Given the description of an element on the screen output the (x, y) to click on. 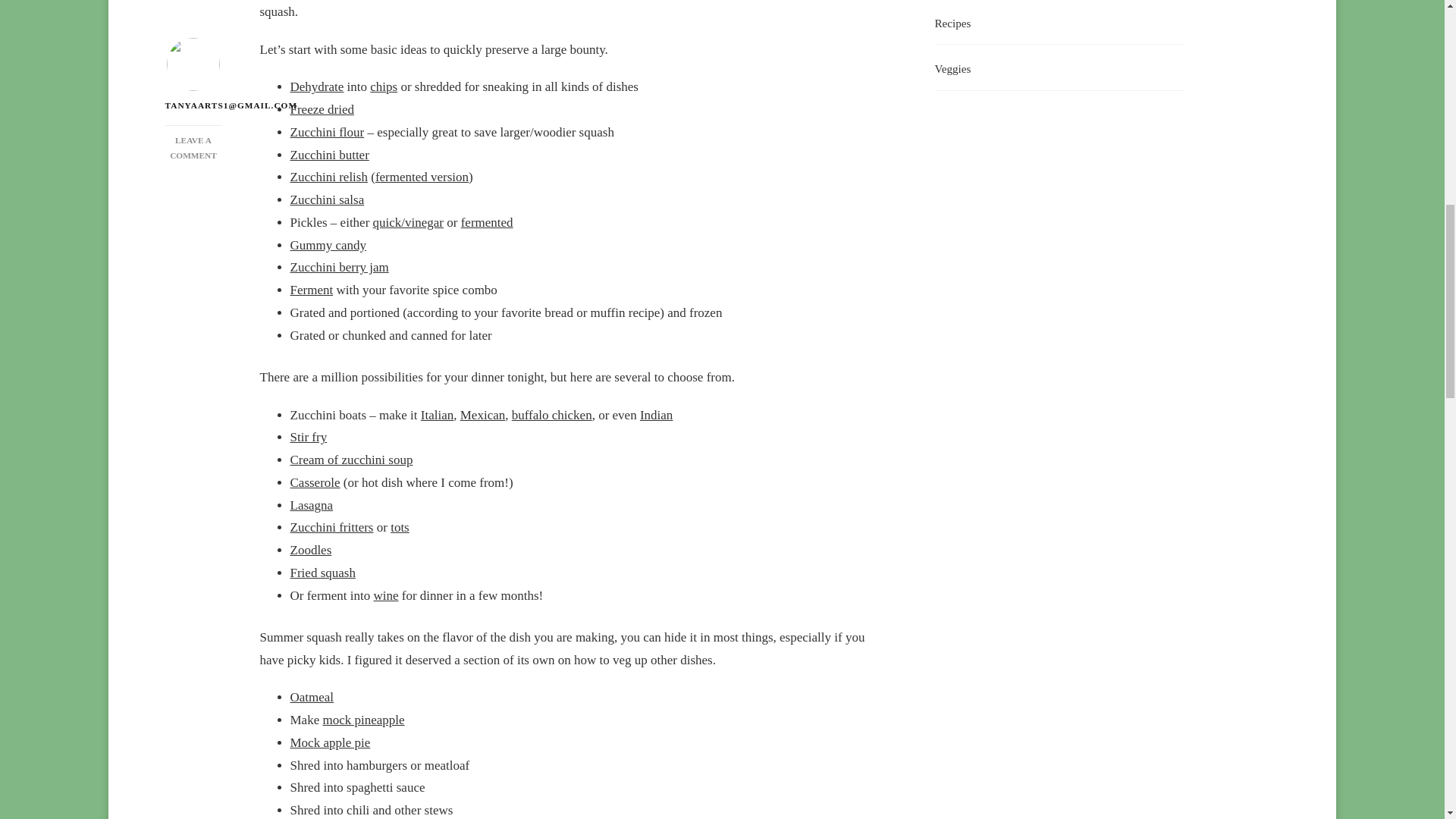
Dehydrate (316, 86)
chips (383, 86)
Zucchini butter (328, 155)
Gummy candy (327, 245)
Zucchini flour (326, 132)
Freeze dried (321, 109)
fermented (487, 222)
Zucchini relish (327, 176)
Ferment (311, 289)
Zucchini salsa (326, 199)
Italian (193, 64)
Zucchini berry jam (436, 414)
fermented version (338, 267)
